Given the description of an element on the screen output the (x, y) to click on. 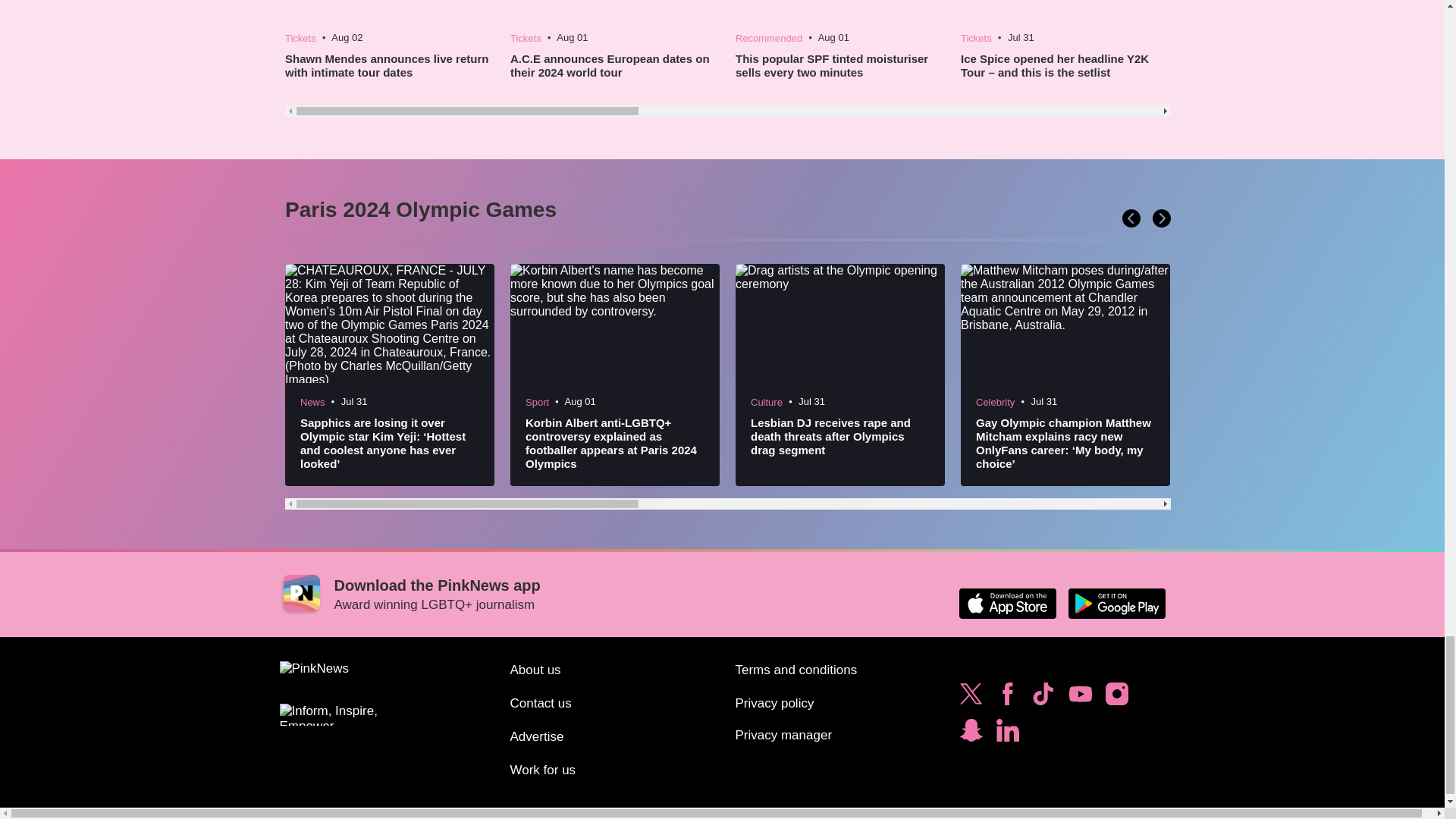
Follow PinkNews on LinkedIn (1007, 733)
Subscribe to PinkNews on YouTube (1079, 697)
Download the PinkNews app on the Apple App Store (1006, 603)
Follow PinkNews on TikTok (1042, 697)
Follow PinkNews on Twitter (970, 697)
Follow PinkNews on Instagram (1116, 697)
Subscribe to PinkNews on Snapchat (970, 733)
Download the PinkNews app on Google Play (1115, 603)
